Given the description of an element on the screen output the (x, y) to click on. 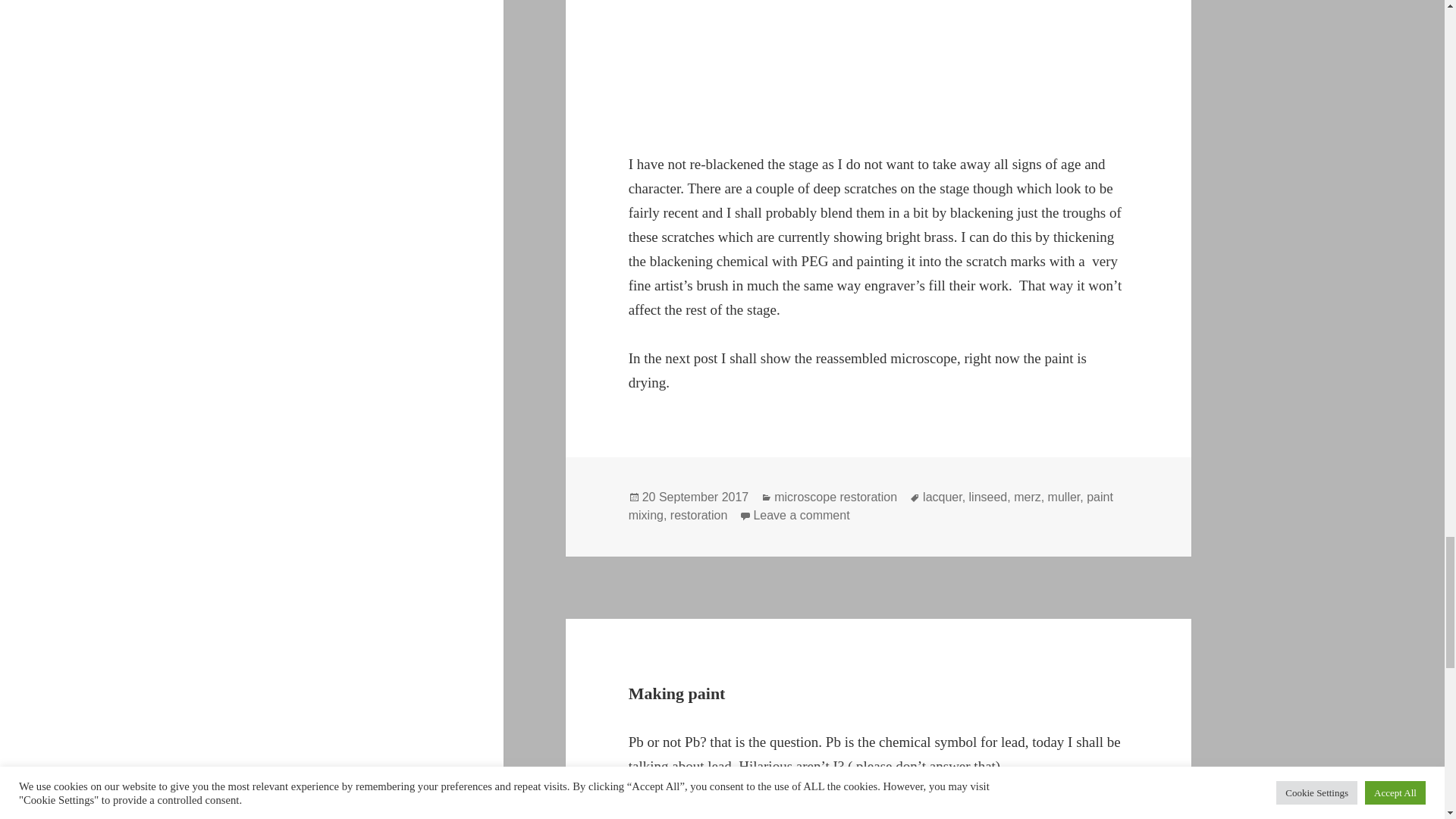
lacquer (942, 497)
microscope restoration (835, 497)
restoration (698, 515)
linseed (988, 497)
merz (1027, 497)
20 September 2017 (695, 497)
muller (1064, 497)
paint mixing (870, 506)
